Given the description of an element on the screen output the (x, y) to click on. 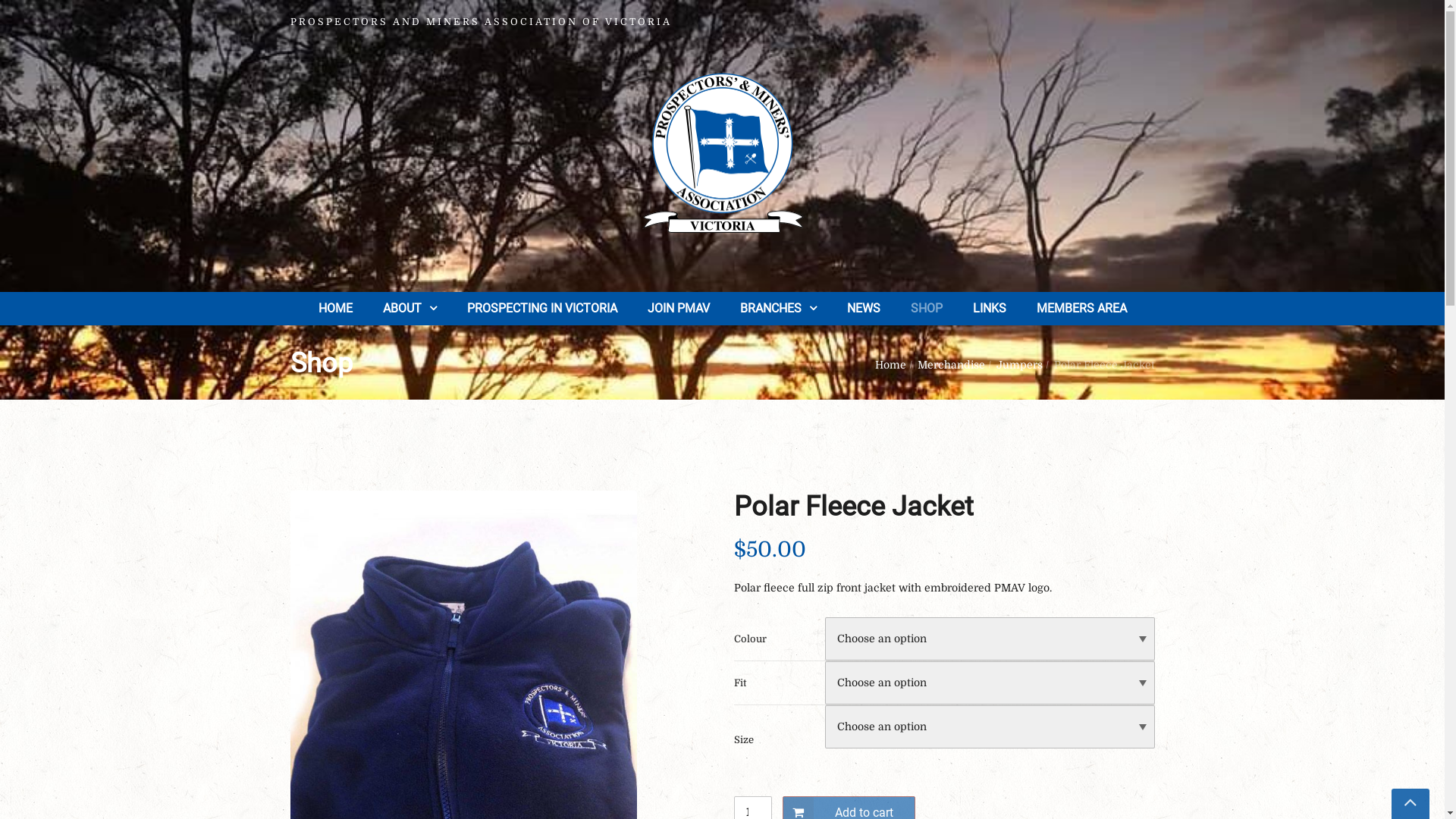
LINKS Element type: text (988, 308)
HOME Element type: text (335, 308)
BRANCHES Element type: text (778, 308)
ABOUT Element type: text (409, 308)
JOIN PMAV Element type: text (678, 308)
Home Element type: text (890, 364)
PROSPECTING IN VICTORIA Element type: text (542, 308)
SHOP Element type: text (925, 308)
NEWS Element type: text (862, 308)
MEMBERS AREA Element type: text (1080, 308)
Merchandise Element type: text (951, 364)
Jumpers Element type: text (1019, 364)
